Given the description of an element on the screen output the (x, y) to click on. 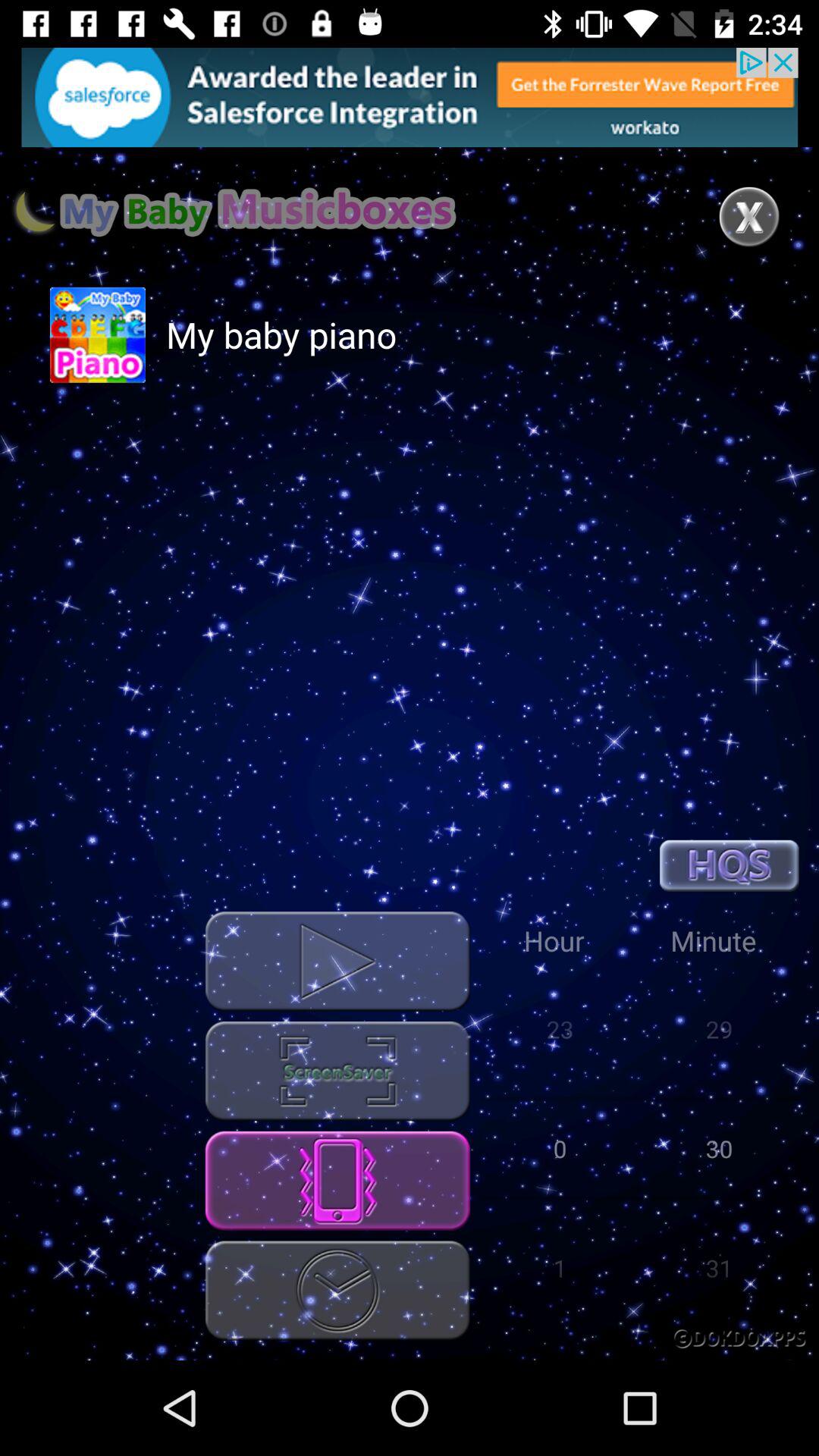
hos details (729, 865)
